Given the description of an element on the screen output the (x, y) to click on. 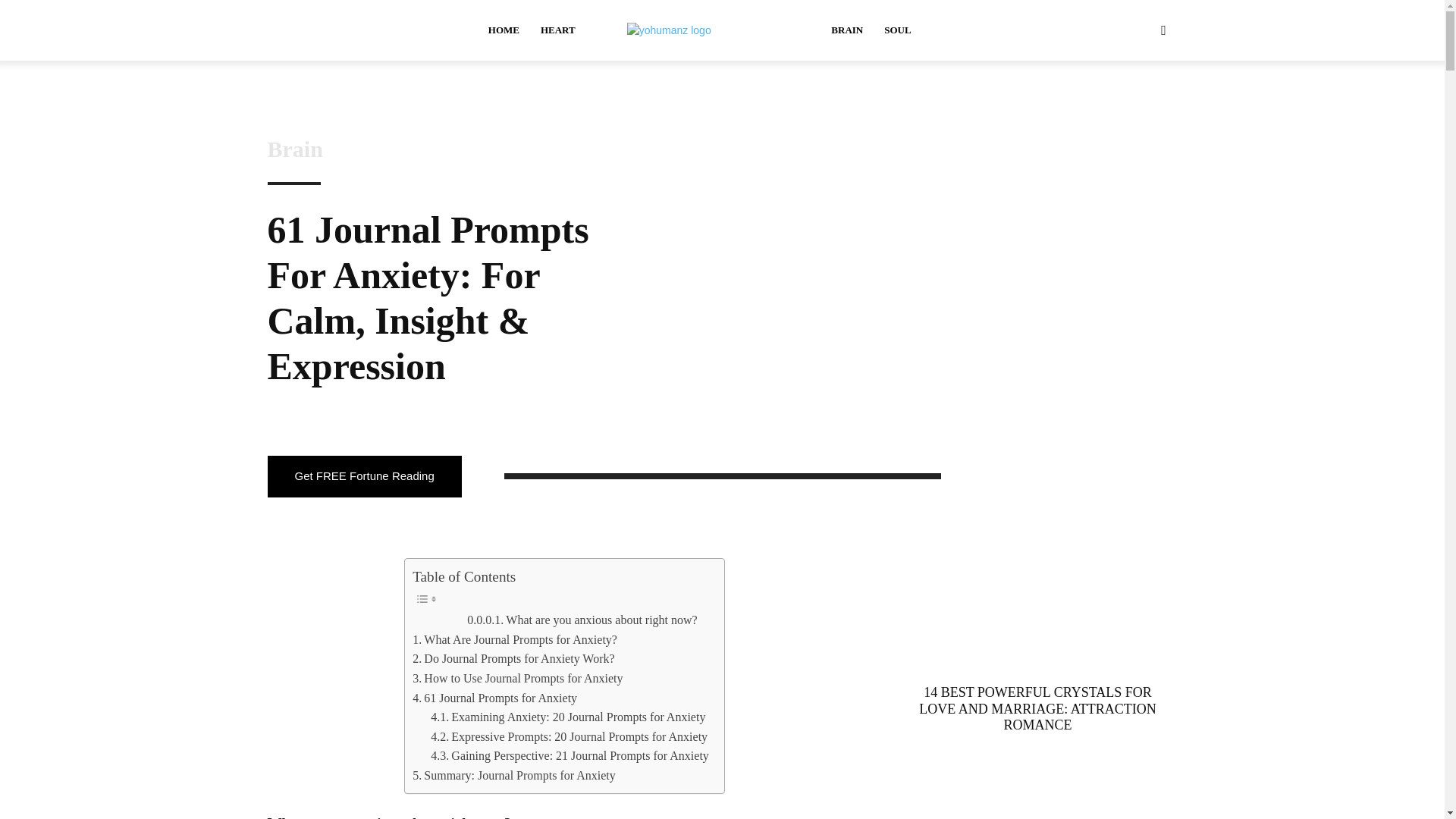
Brain (293, 149)
Expressive Prompts: 20 Journal Prompts for Anxiety (568, 736)
Gaining Perspective: 21 Journal Prompts for Anxiety (569, 755)
How to Use Journal Prompts for Anxiety (517, 678)
What are you anxious about right now? (582, 619)
61 Journal Prompts for Anxiety (494, 698)
Do Journal Prompts for Anxiety Work? (513, 659)
What Are Journal Prompts for Anxiety? (514, 639)
Examining Anxiety: 20 Journal Prompts for Anxiety (567, 717)
What Are Journal Prompts for Anxiety? (514, 639)
